Given the description of an element on the screen output the (x, y) to click on. 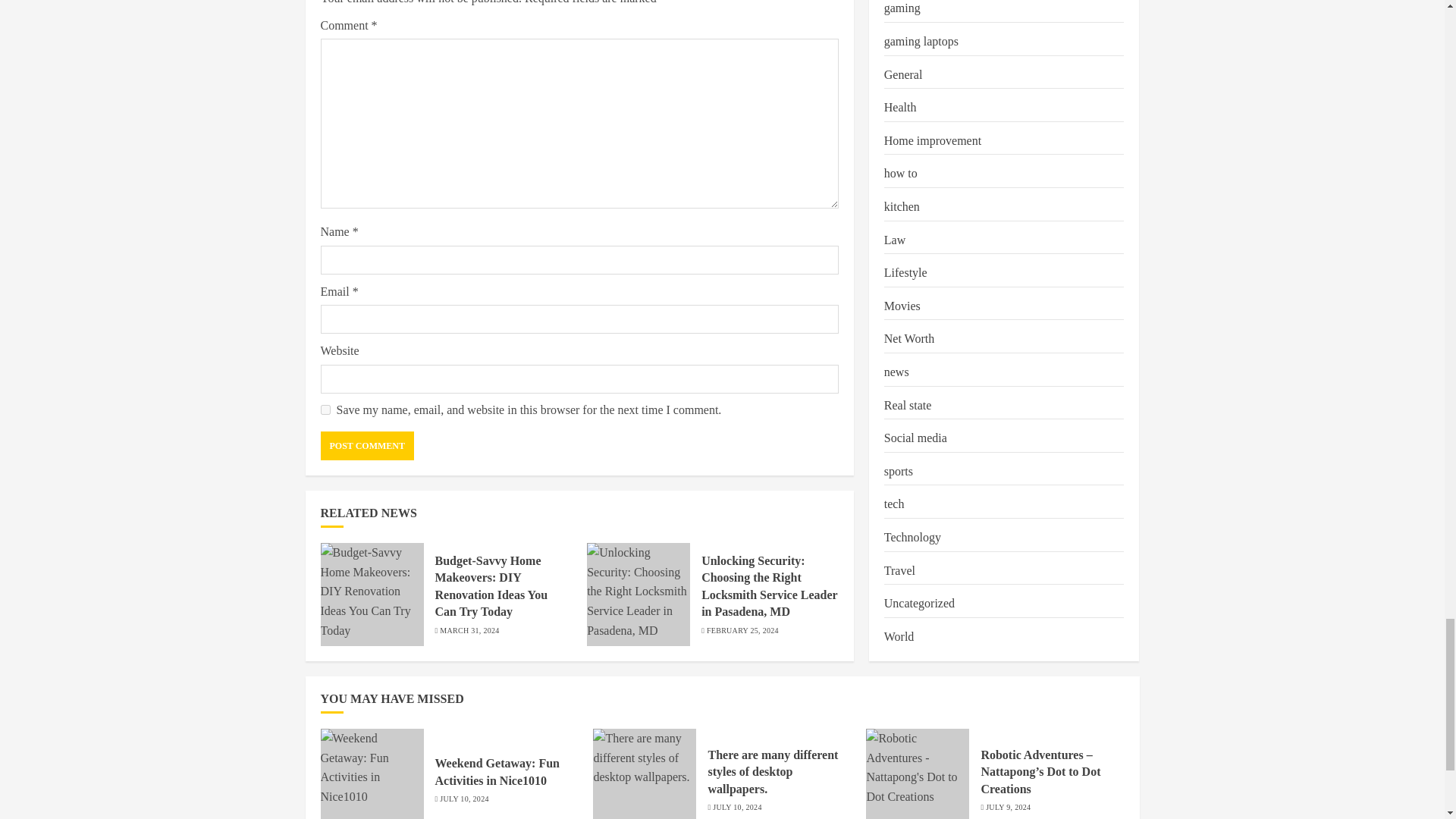
MARCH 31, 2024 (469, 630)
yes (325, 409)
Post Comment (366, 445)
Post Comment (366, 445)
